Given the description of an element on the screen output the (x, y) to click on. 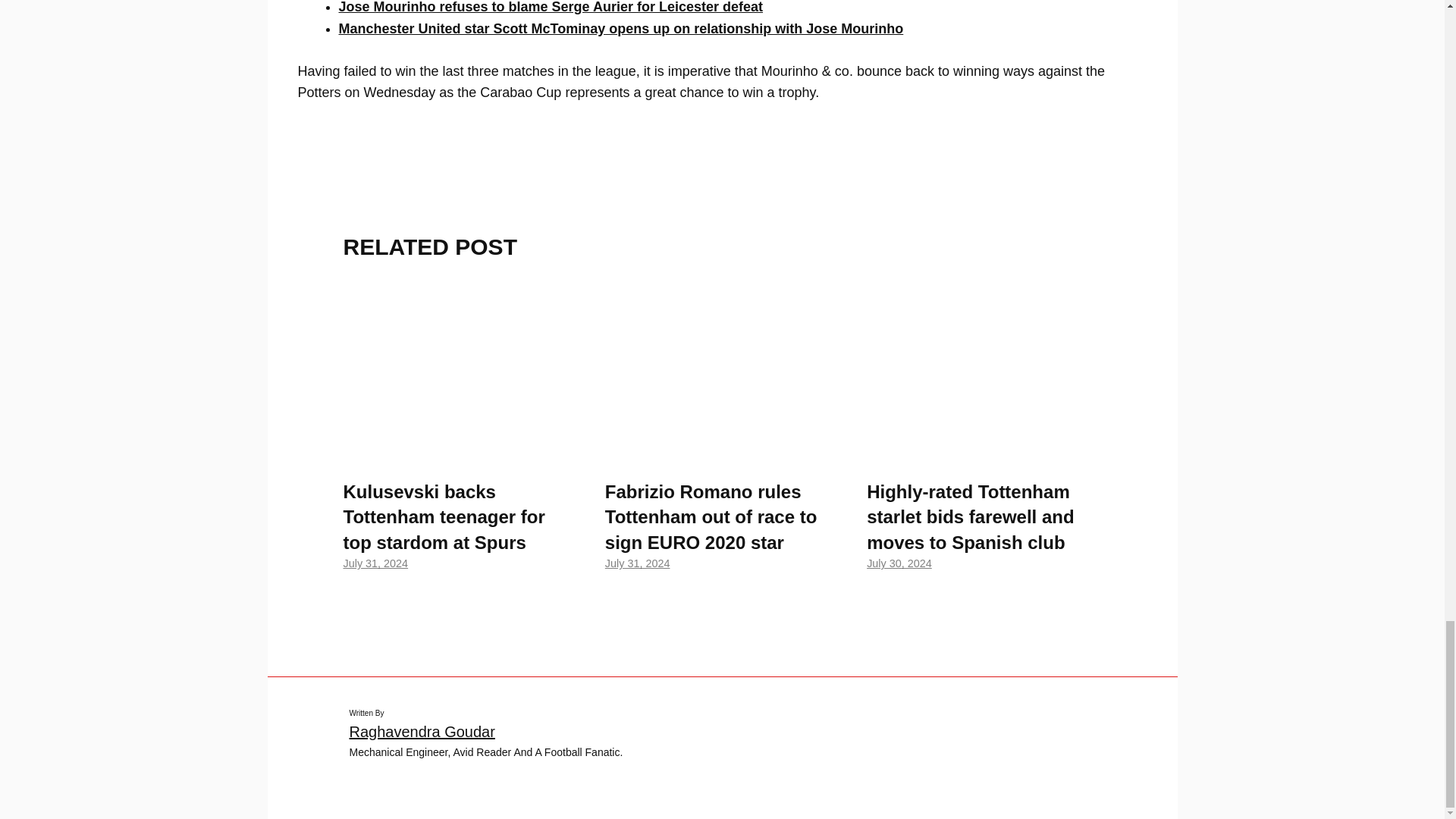
Kulusevski backs Tottenham teenager for top stardom at Spurs (459, 453)
11:00 pm (898, 563)
1:00 am (374, 563)
12:00 am (637, 563)
